Given the description of an element on the screen output the (x, y) to click on. 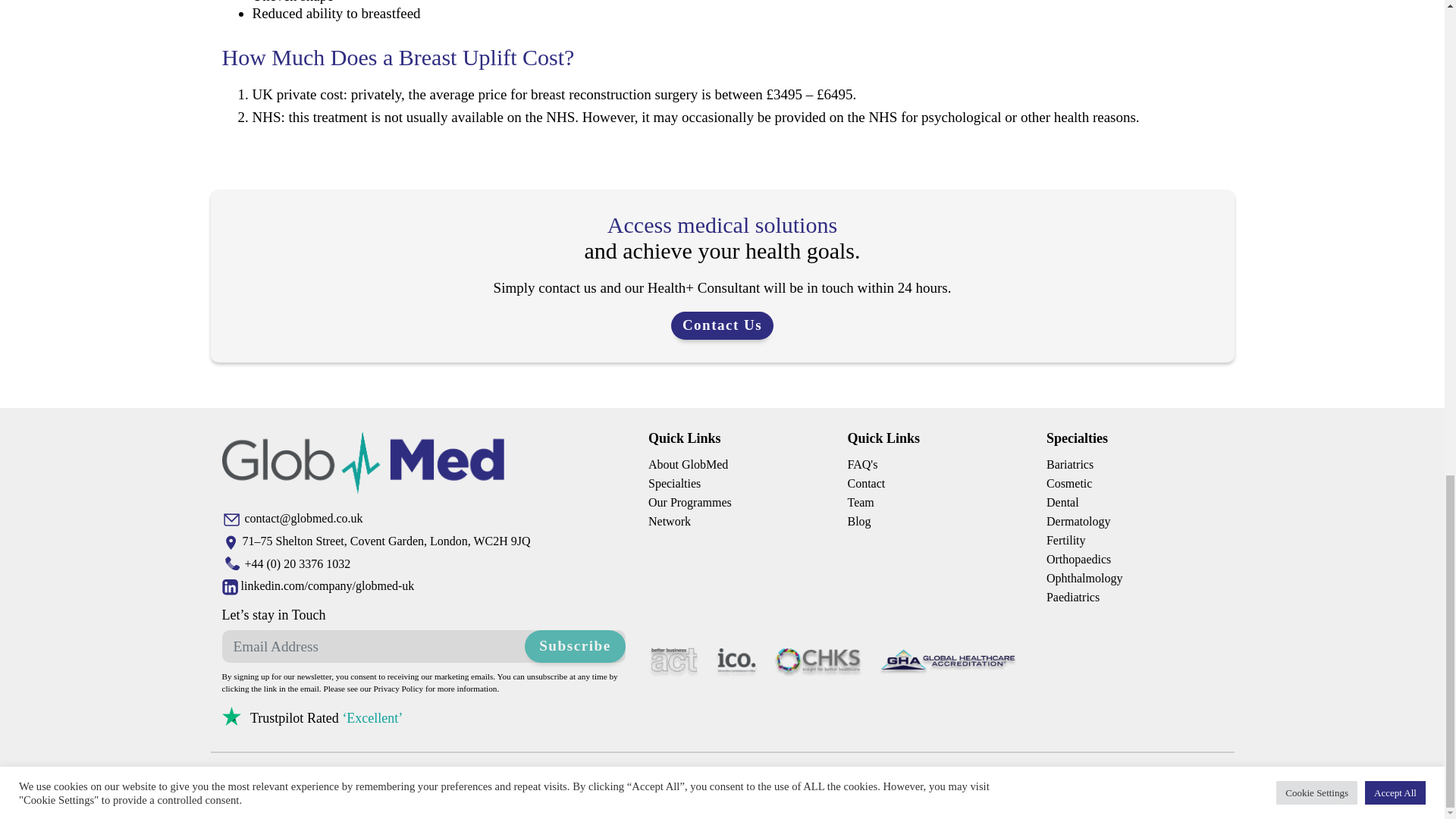
Contact Us (722, 325)
Specialties (1077, 437)
Data Protection Policy (560, 794)
Dermatology (1077, 521)
FAQ's (862, 463)
Contact (866, 482)
About GlobMed (687, 463)
Subscribe (575, 645)
Paediatrics (1072, 596)
Cosmetic (1069, 482)
Bariatrics (1069, 463)
Orthopaedics (1078, 558)
Team (860, 501)
Network (668, 521)
Blog (858, 521)
